Given the description of an element on the screen output the (x, y) to click on. 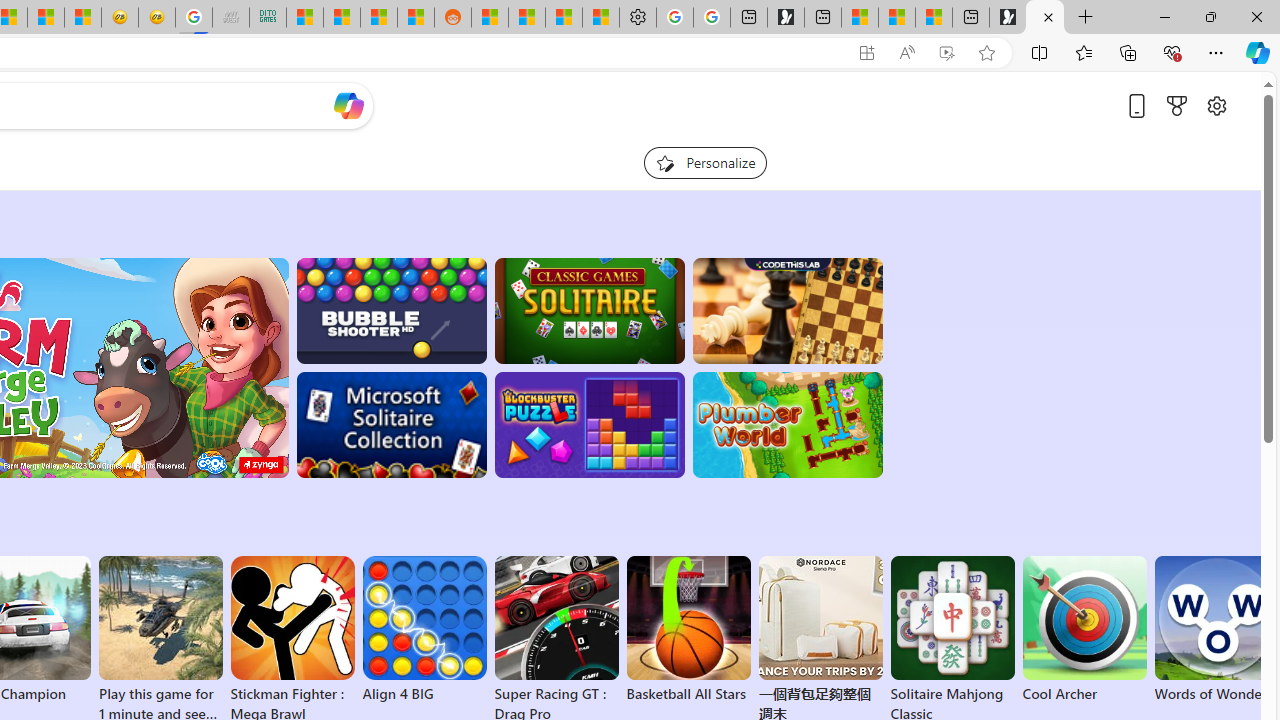
Personalize your feed" (704, 162)
BlockBuster: Adventures Puzzle (589, 425)
Enhance video (946, 53)
Cool Archer (1083, 629)
